Given the description of an element on the screen output the (x, y) to click on. 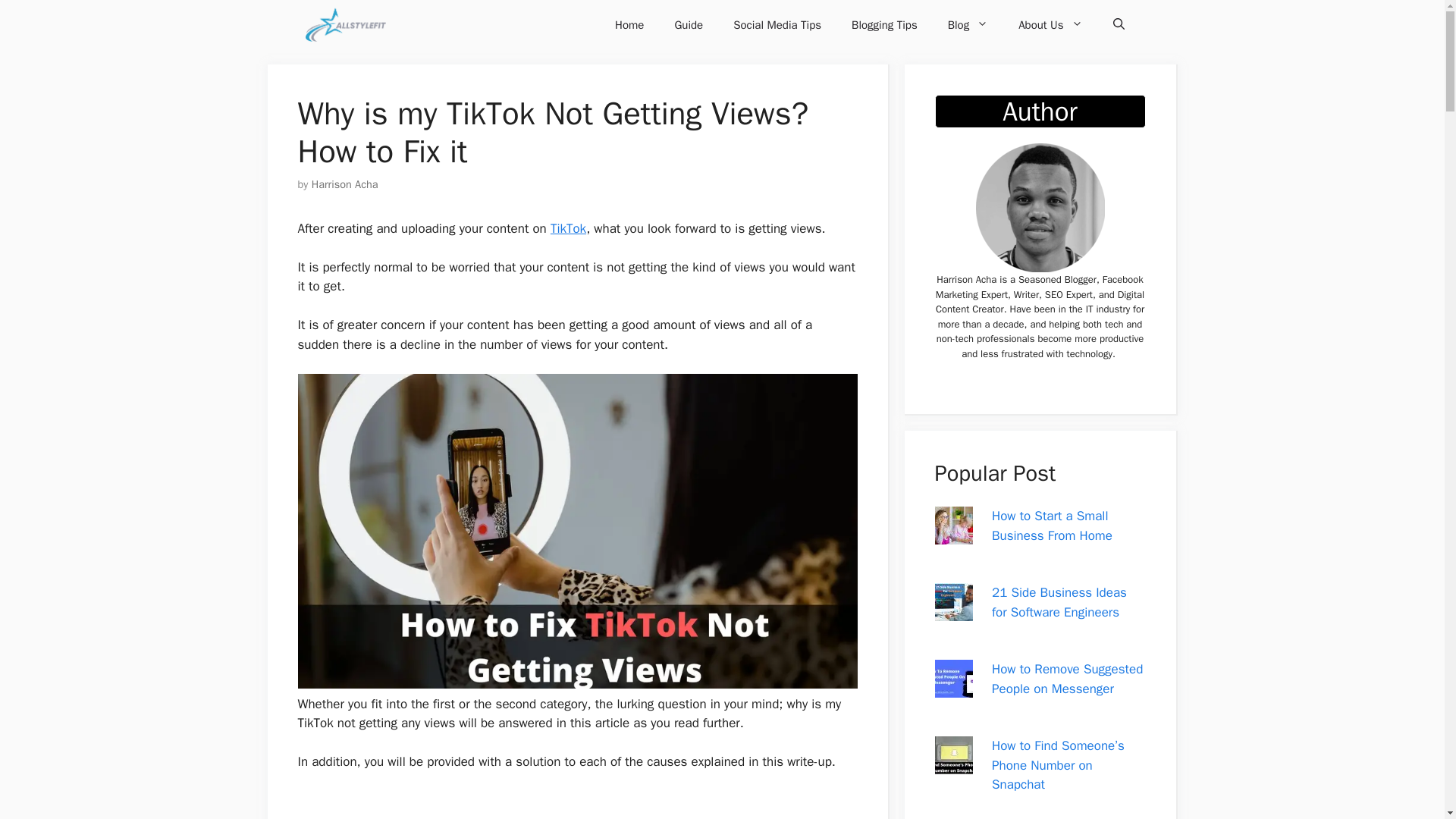
Home (629, 23)
Social Media Tips (776, 23)
Guide (688, 23)
Blogging Tips (884, 23)
21 Side Business Ideas for Software Engineers (953, 611)
How to Remove Suggested People on Messenger (953, 688)
View all posts by Harrison Acha (344, 183)
How to Start a Small Business From Home (953, 534)
TikTok (568, 228)
Harrison Acha (344, 183)
About Us (1050, 23)
Allstylefit (344, 24)
Blog (968, 23)
